Given the description of an element on the screen output the (x, y) to click on. 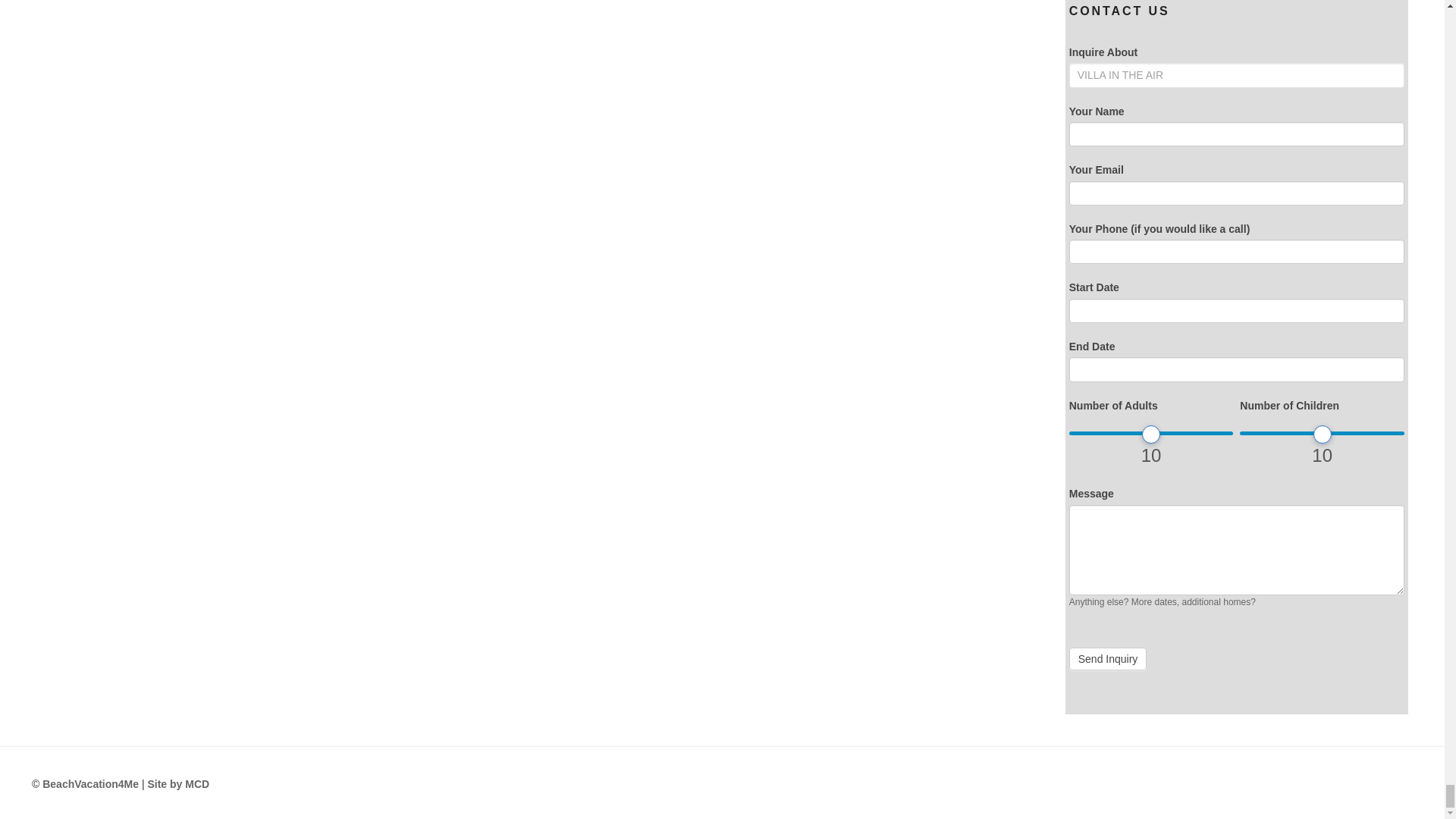
10 (1150, 432)
VILLA IN THE AIR (1236, 74)
10 (1322, 432)
